Given the description of an element on the screen output the (x, y) to click on. 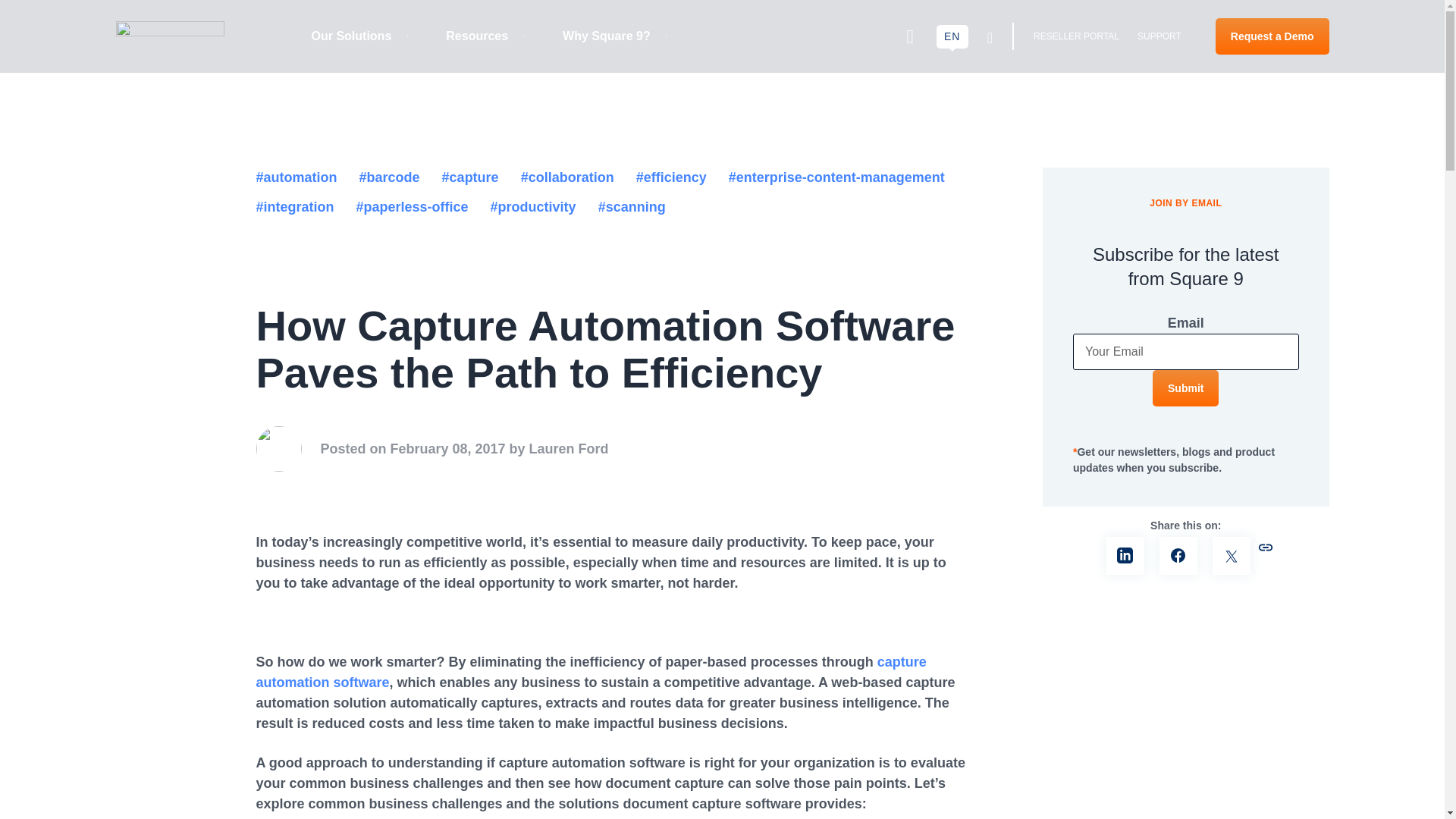
SUPPORT (1158, 36)
Request a Demo (1272, 36)
Resources (484, 36)
Submit (1185, 388)
RESELLER PORTAL (1076, 36)
